Given the description of an element on the screen output the (x, y) to click on. 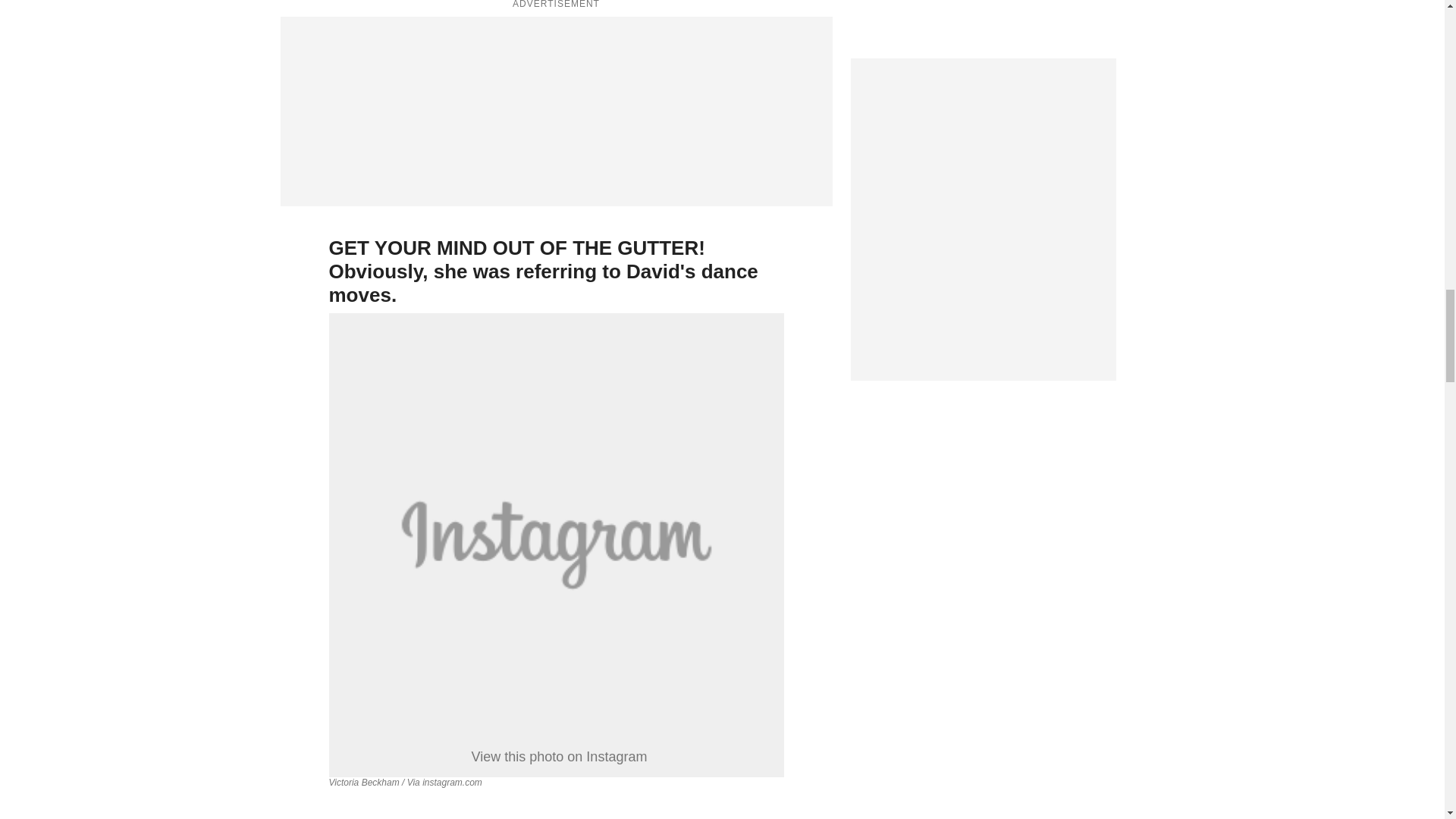
instagram.com - View on enhanced page (451, 782)
